Given the description of an element on the screen output the (x, y) to click on. 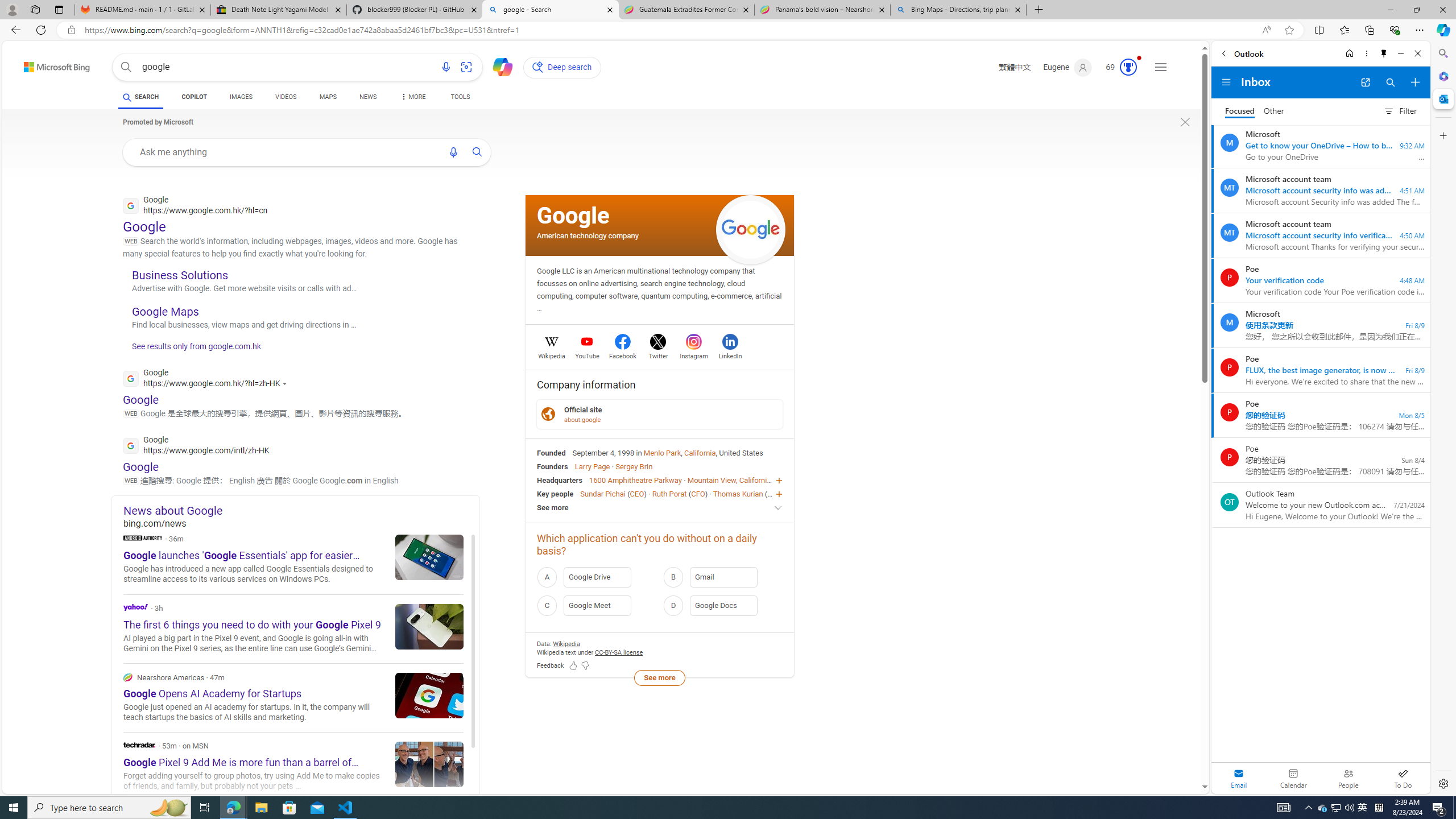
More options (1366, 53)
American technology company (588, 234)
google - Search (550, 9)
Back (1223, 53)
COPILOT (193, 98)
Microsoft 365 (1442, 76)
Selected mail module (1238, 777)
Facebook (622, 354)
Search more (1179, 753)
Back to Bing search (50, 64)
LinkedIn (729, 354)
Wikipedia (551, 354)
